Given the description of an element on the screen output the (x, y) to click on. 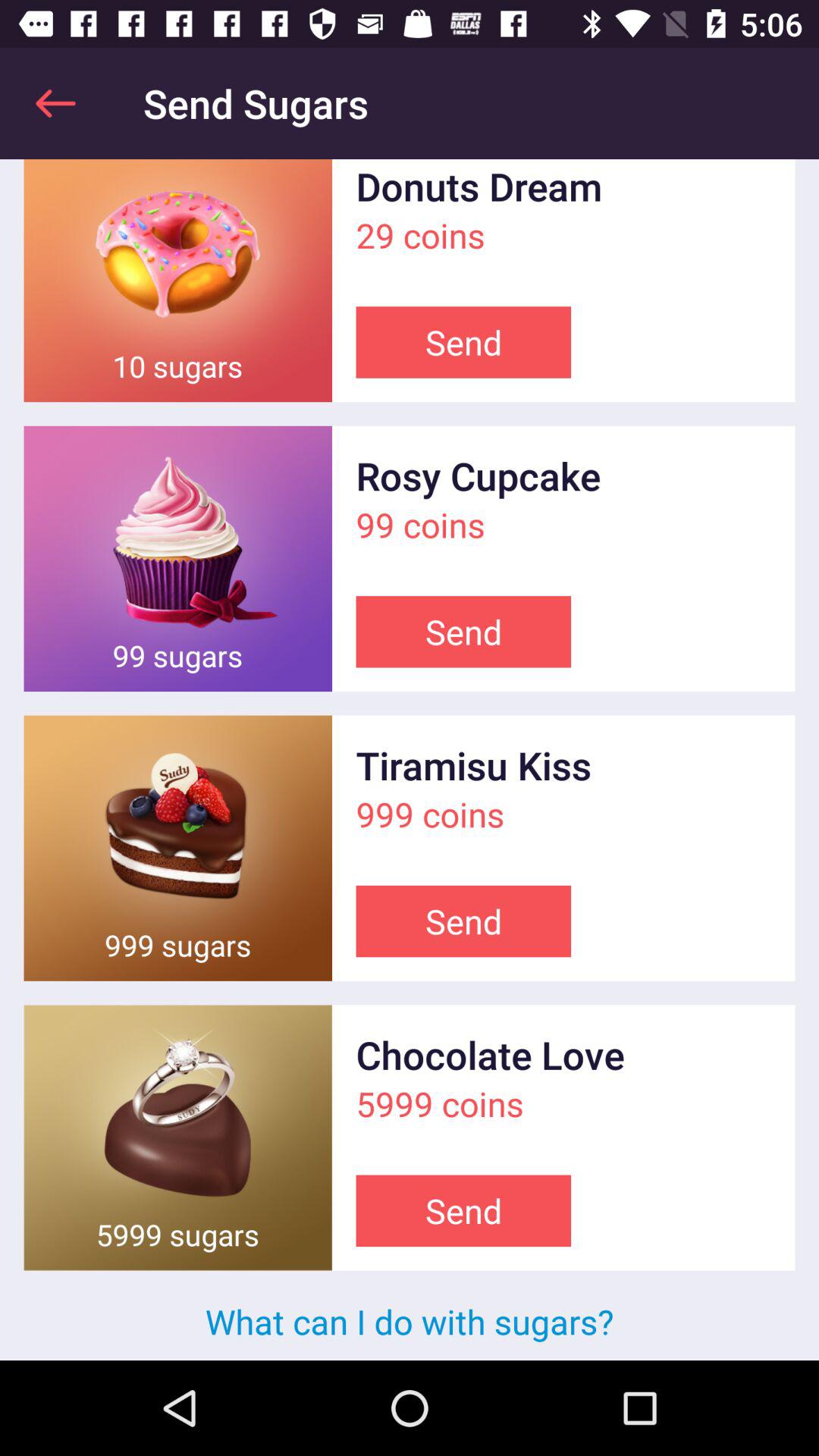
select the item to the left of the send sugars app (55, 103)
